Given the description of an element on the screen output the (x, y) to click on. 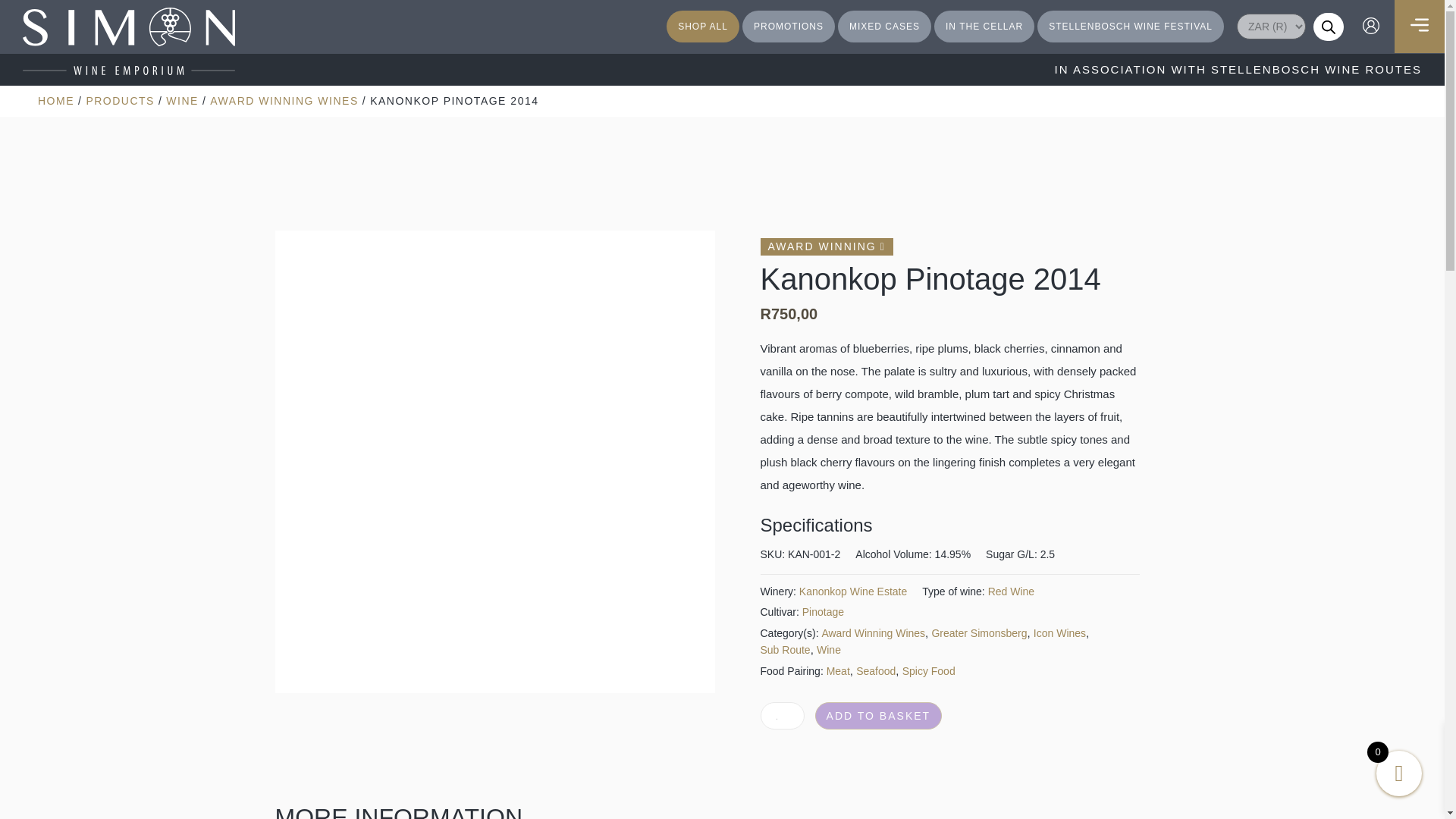
STELLENBOSCH WINE FESTIVAL (1130, 26)
MIXED CASES (884, 26)
IN THE CELLAR (983, 26)
Home (55, 100)
Award Winning Wines (283, 100)
SHOP ALL (702, 26)
1 (781, 715)
Products (119, 100)
PROMOTIONS (788, 26)
Wine (181, 100)
